Given the description of an element on the screen output the (x, y) to click on. 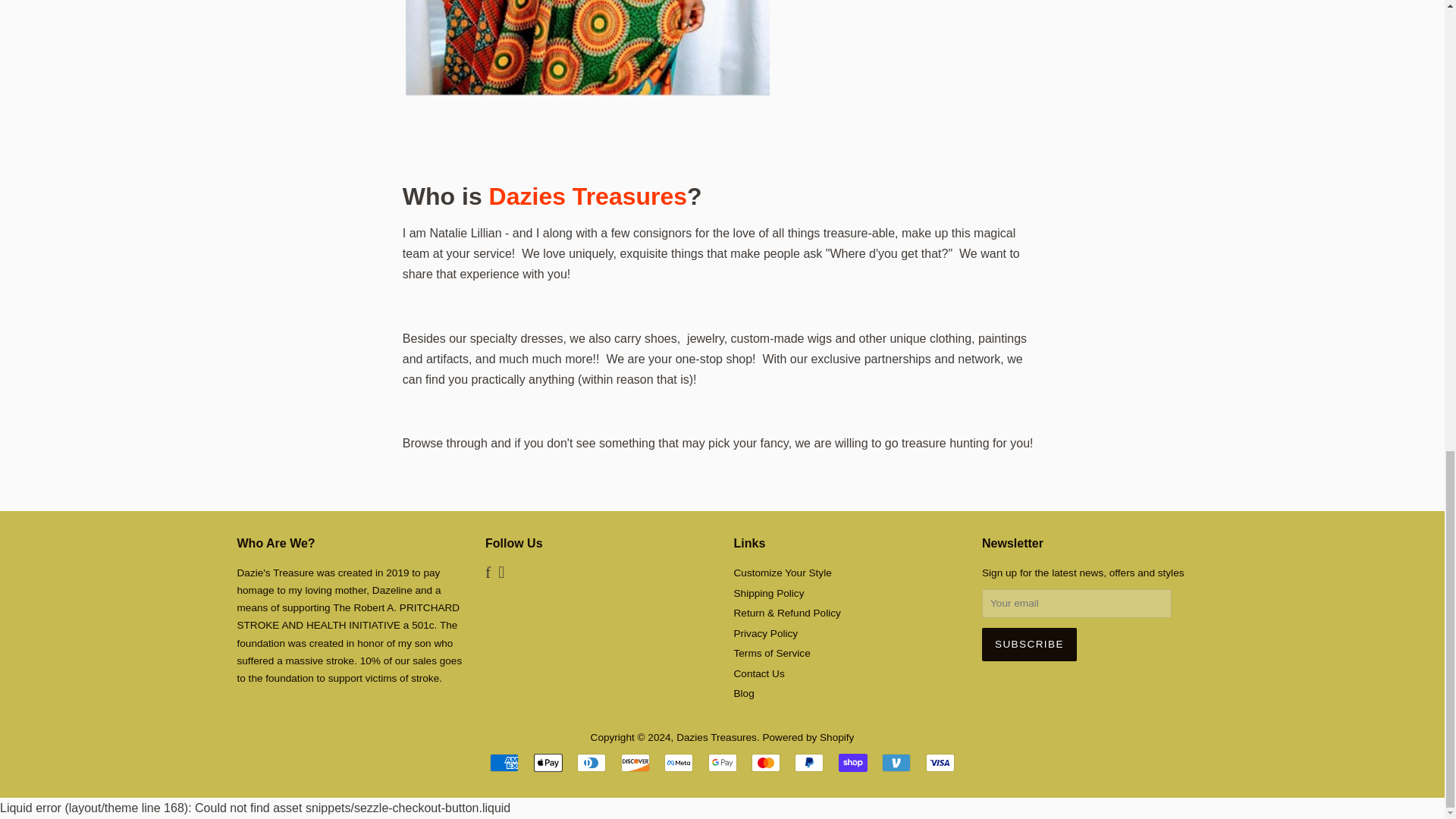
American Express (503, 762)
Visa (940, 762)
Shop Pay (852, 762)
Meta Pay (678, 762)
Discover (635, 762)
PayPal (809, 762)
Subscribe (1029, 644)
Apple Pay (548, 762)
Mastercard (765, 762)
Diners Club (590, 762)
